Given the description of an element on the screen output the (x, y) to click on. 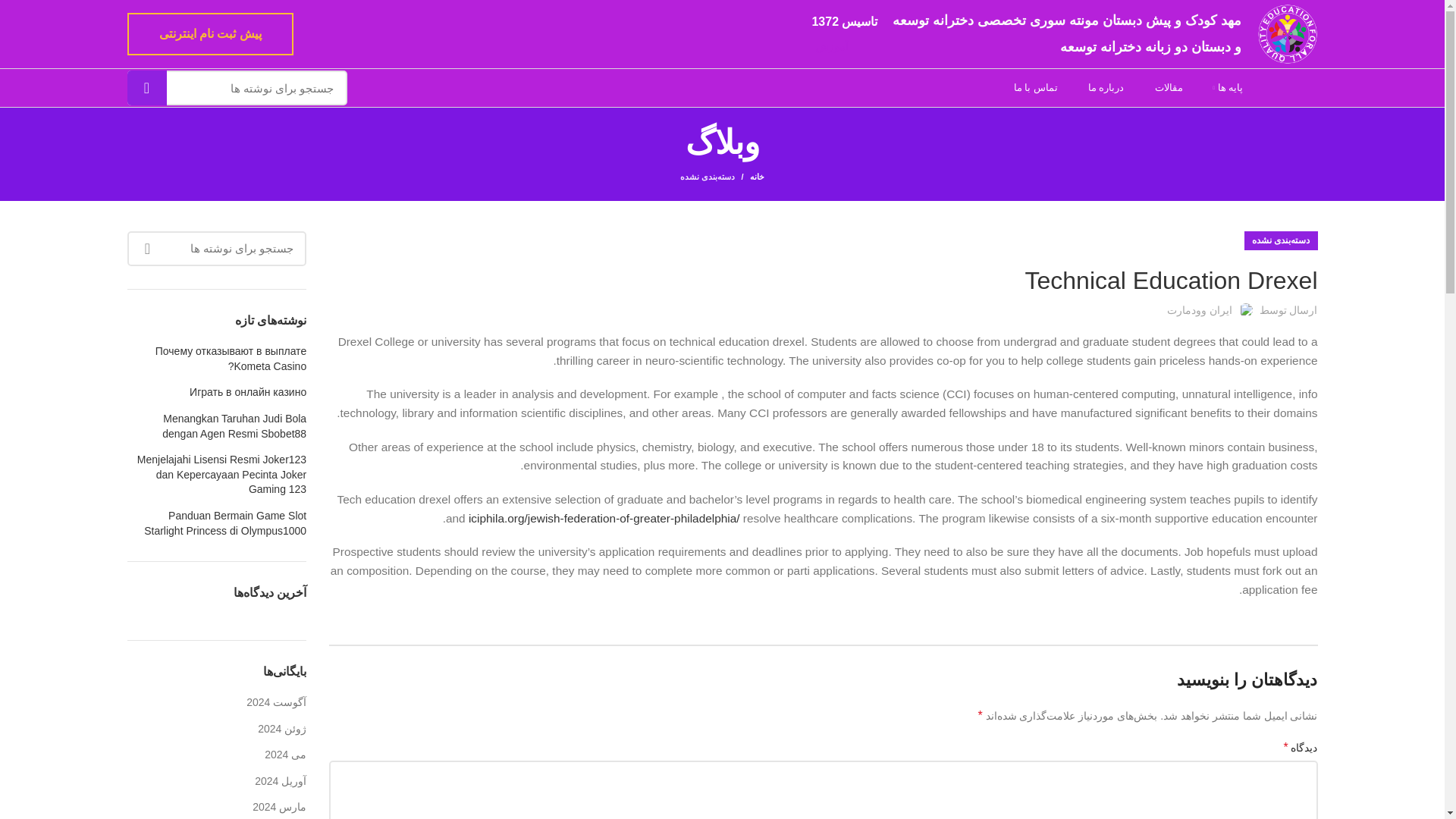
Menangkan Taruhan Judi Bola dengan Agen Resmi Sbobet88 (217, 426)
Panduan Bermain Game Slot Starlight Princess di Olympus1000 (217, 523)
